Given the description of an element on the screen output the (x, y) to click on. 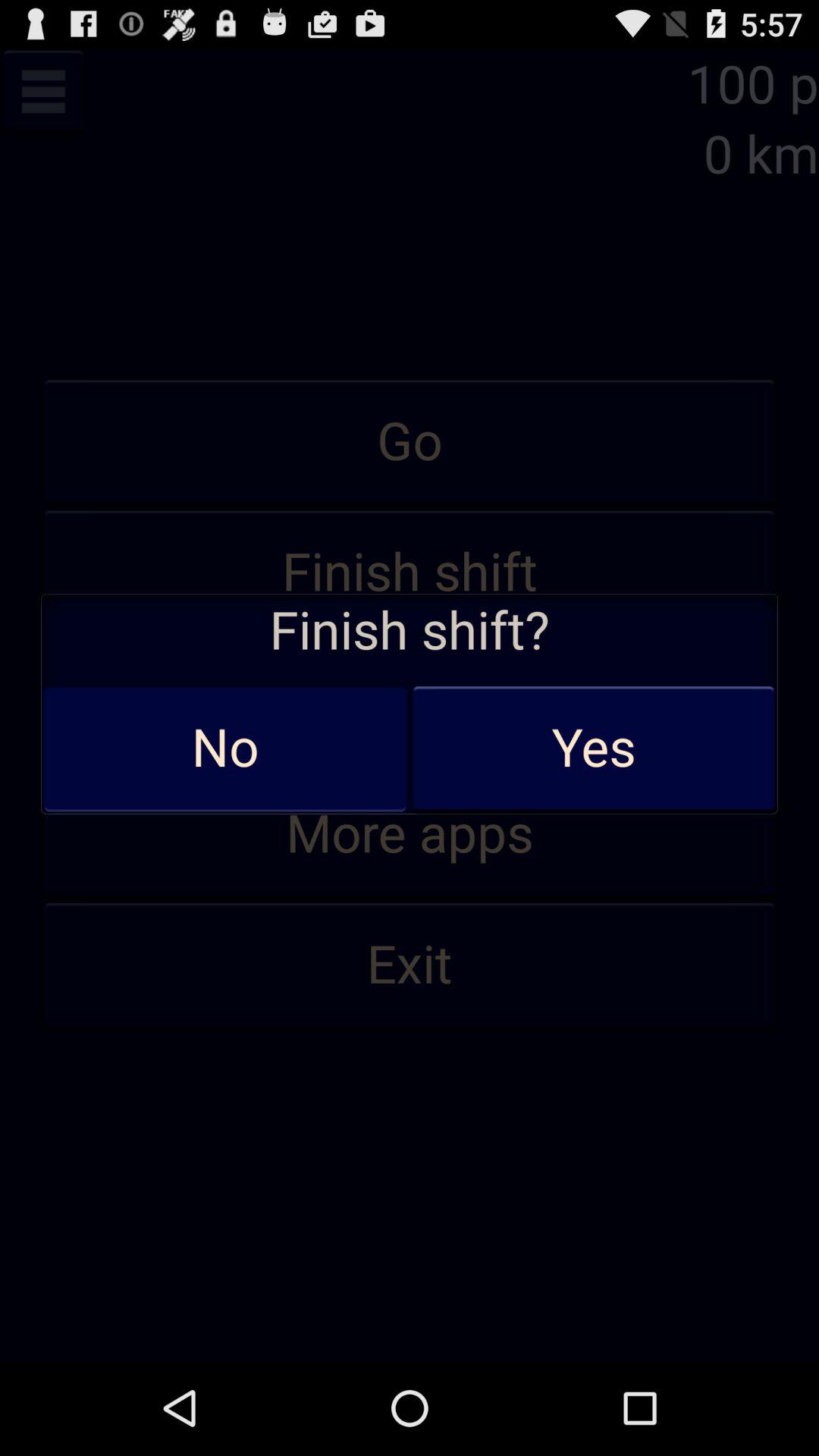
tap more apps item (409, 834)
